Given the description of an element on the screen output the (x, y) to click on. 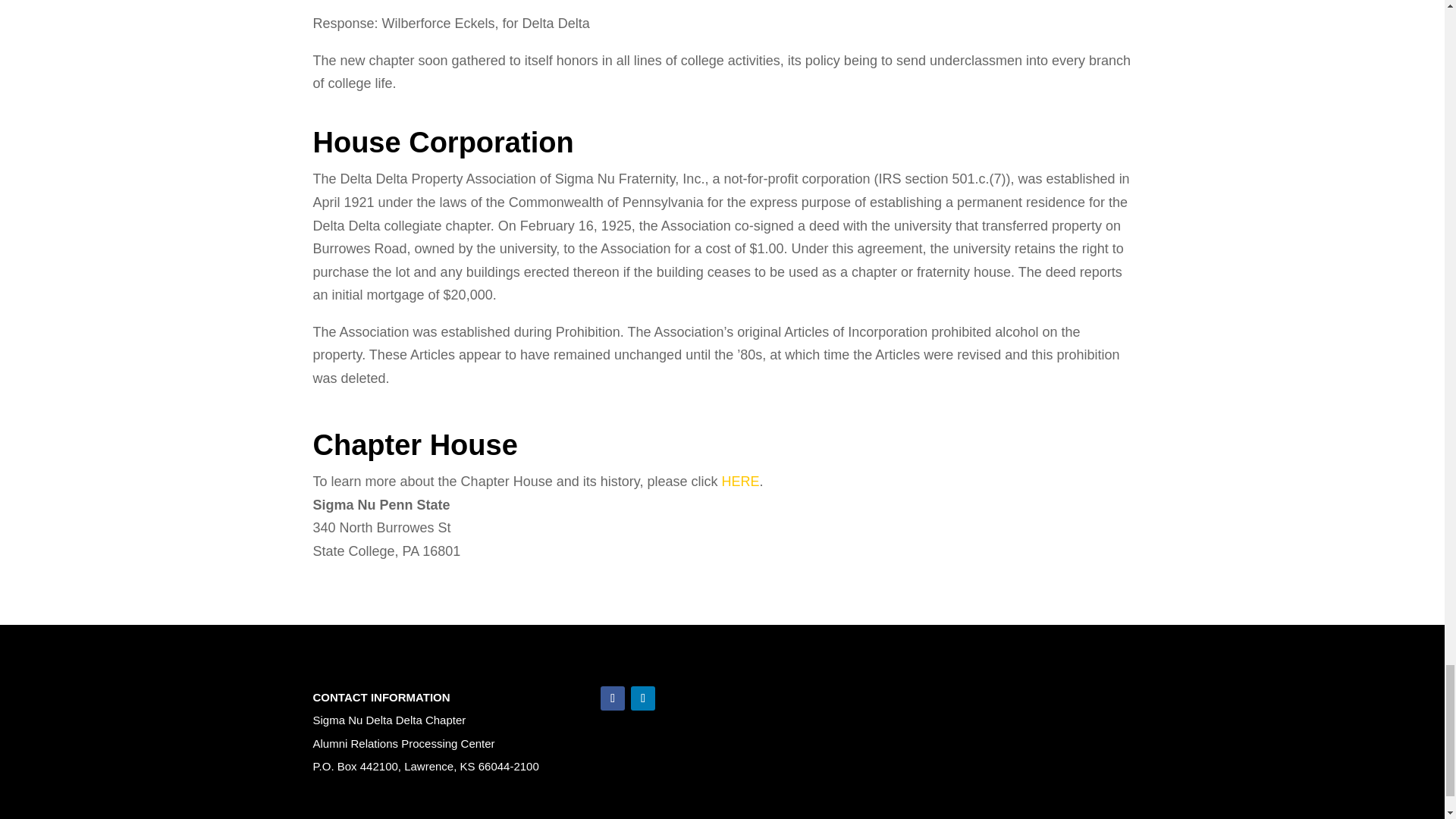
Follow on LinkedIn (642, 698)
Page 9 (722, 355)
Follow on Facebook (611, 698)
Page 8 (722, 244)
